Given the description of an element on the screen output the (x, y) to click on. 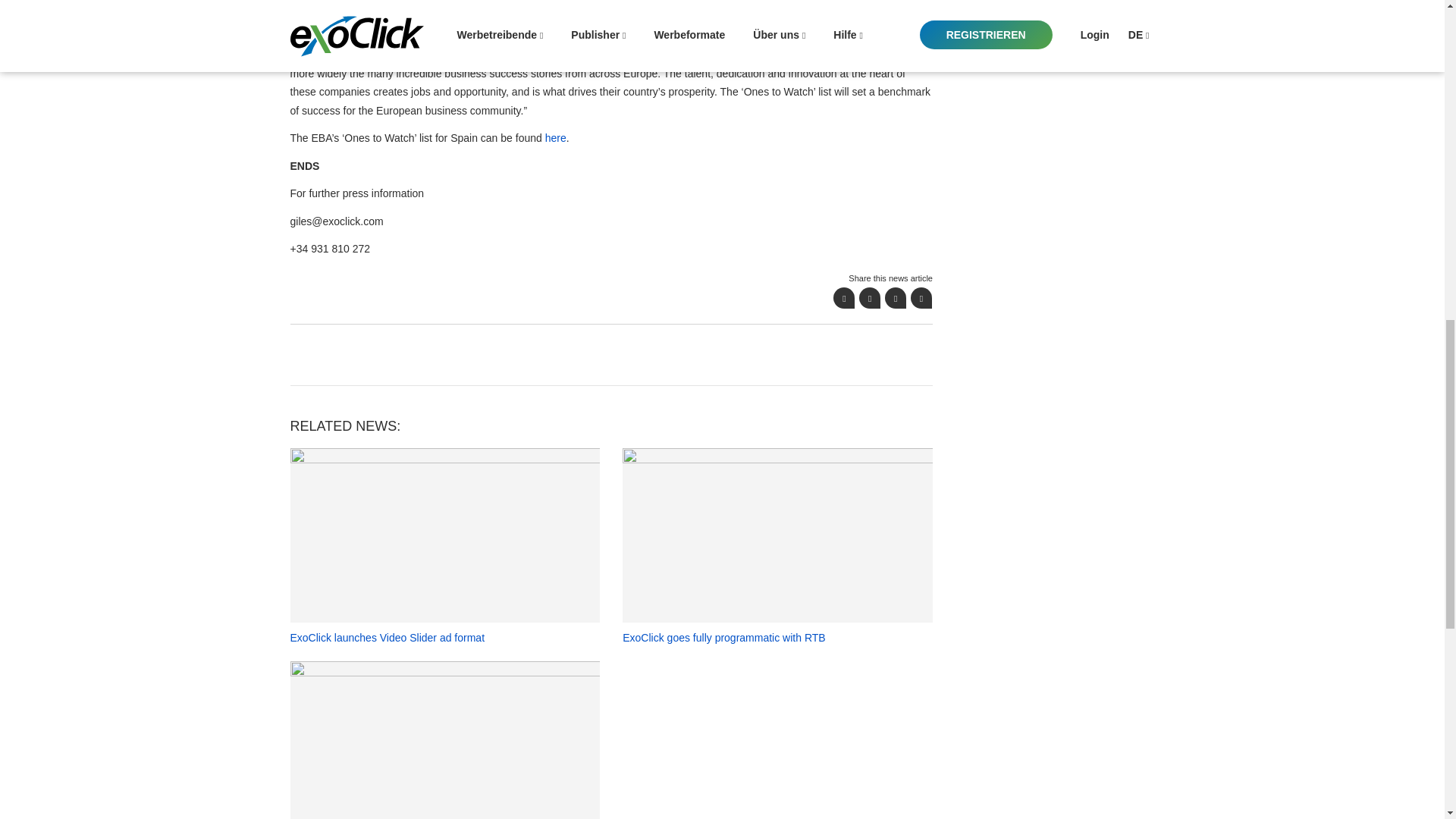
here (555, 137)
Share on Facebook (843, 297)
Share on Twitter (869, 297)
Share by Email (921, 297)
Share on LinkedIn (895, 297)
